Given the description of an element on the screen output the (x, y) to click on. 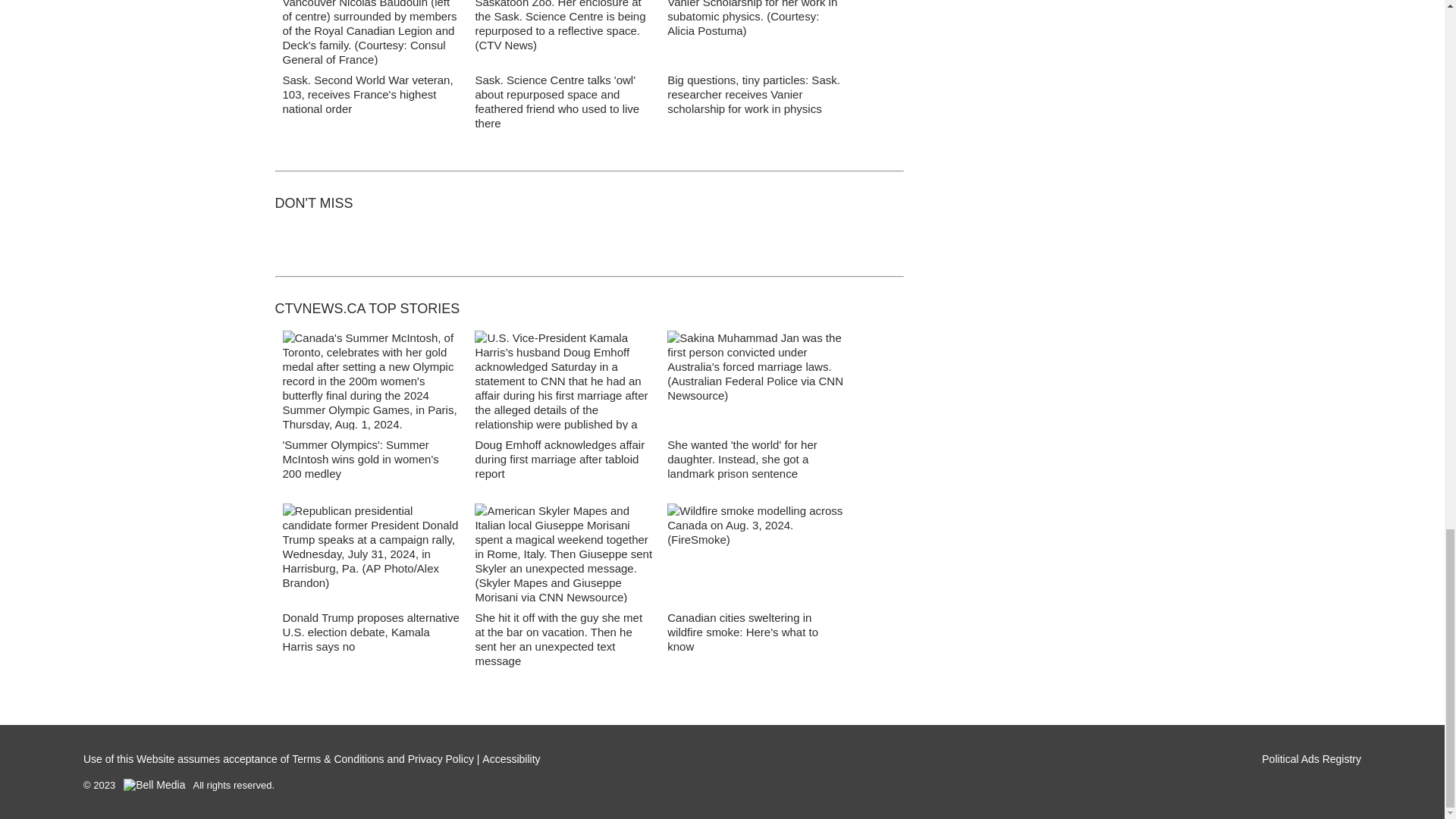
Bubo the Great Horned Owl  (563, 33)
Richmond Arthur Deck (371, 33)
Alicia Postuma (755, 32)
Summer McIntosh (371, 380)
